Given the description of an element on the screen output the (x, y) to click on. 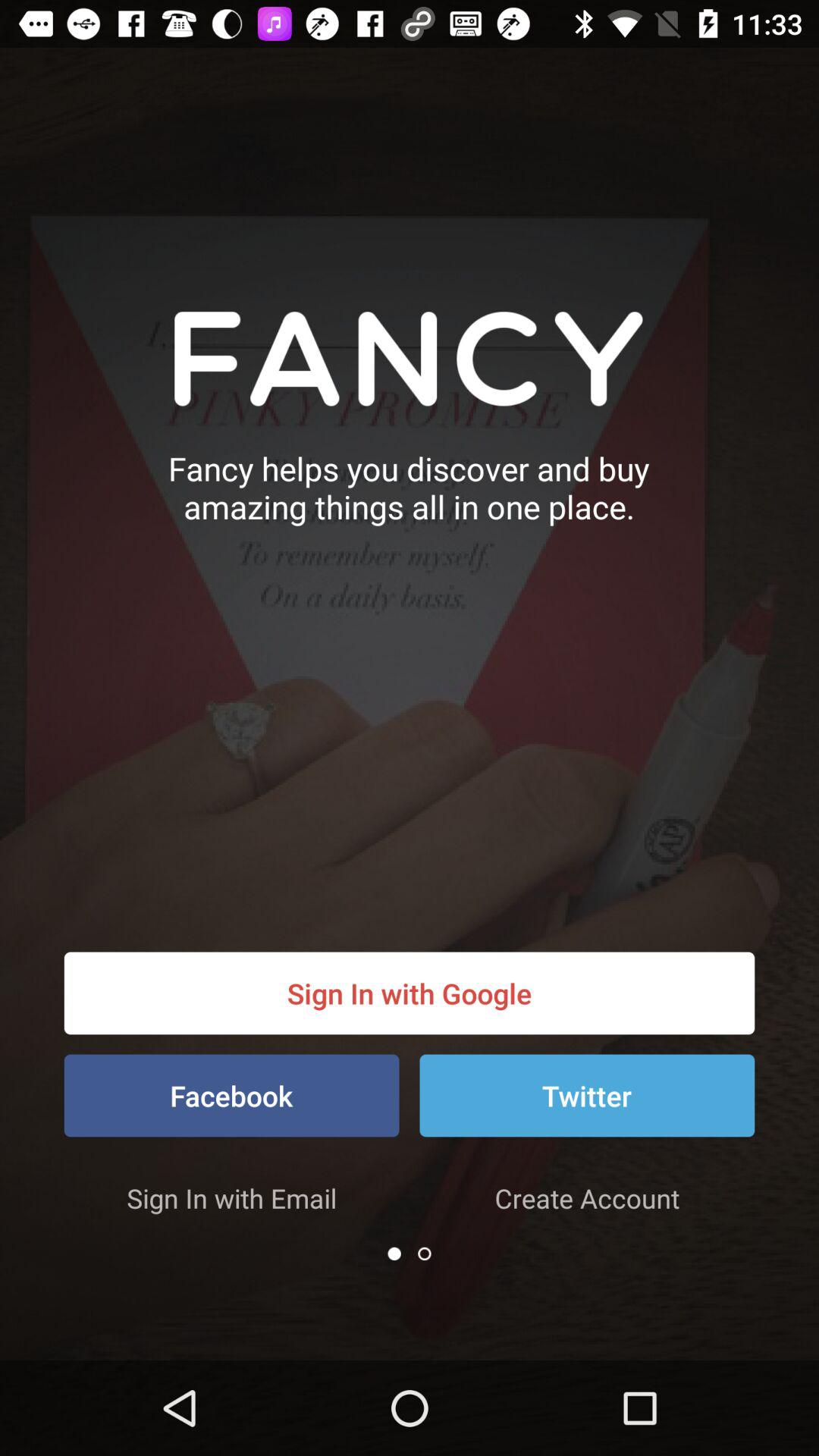
click icon below the sign in with (393, 1253)
